Given the description of an element on the screen output the (x, y) to click on. 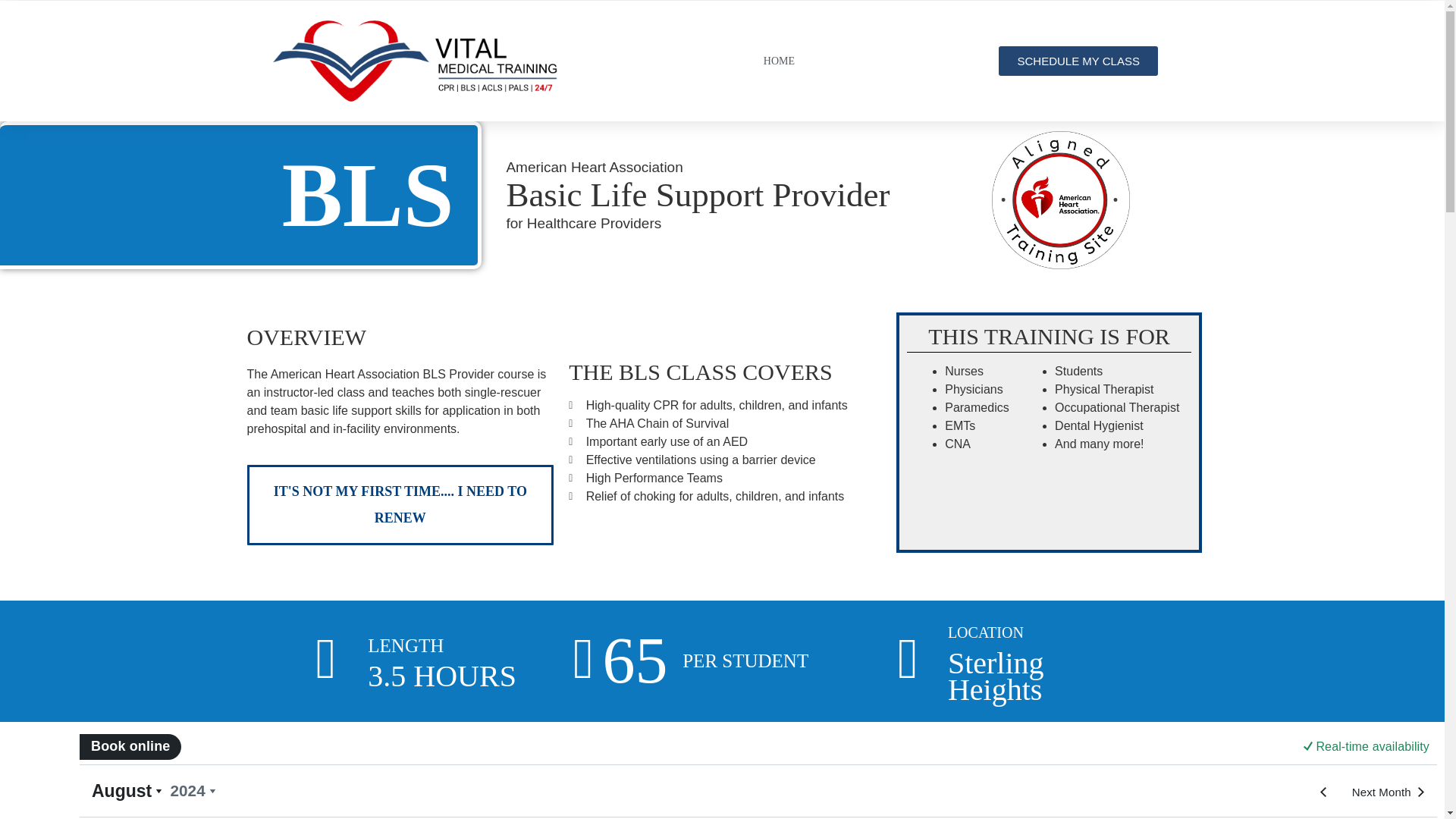
SCHEDULE MY CLASS (1077, 60)
IT'S NOT MY FIRST TIME.... I NEED TO RENEW (400, 505)
FareHarbor (758, 774)
